Given the description of an element on the screen output the (x, y) to click on. 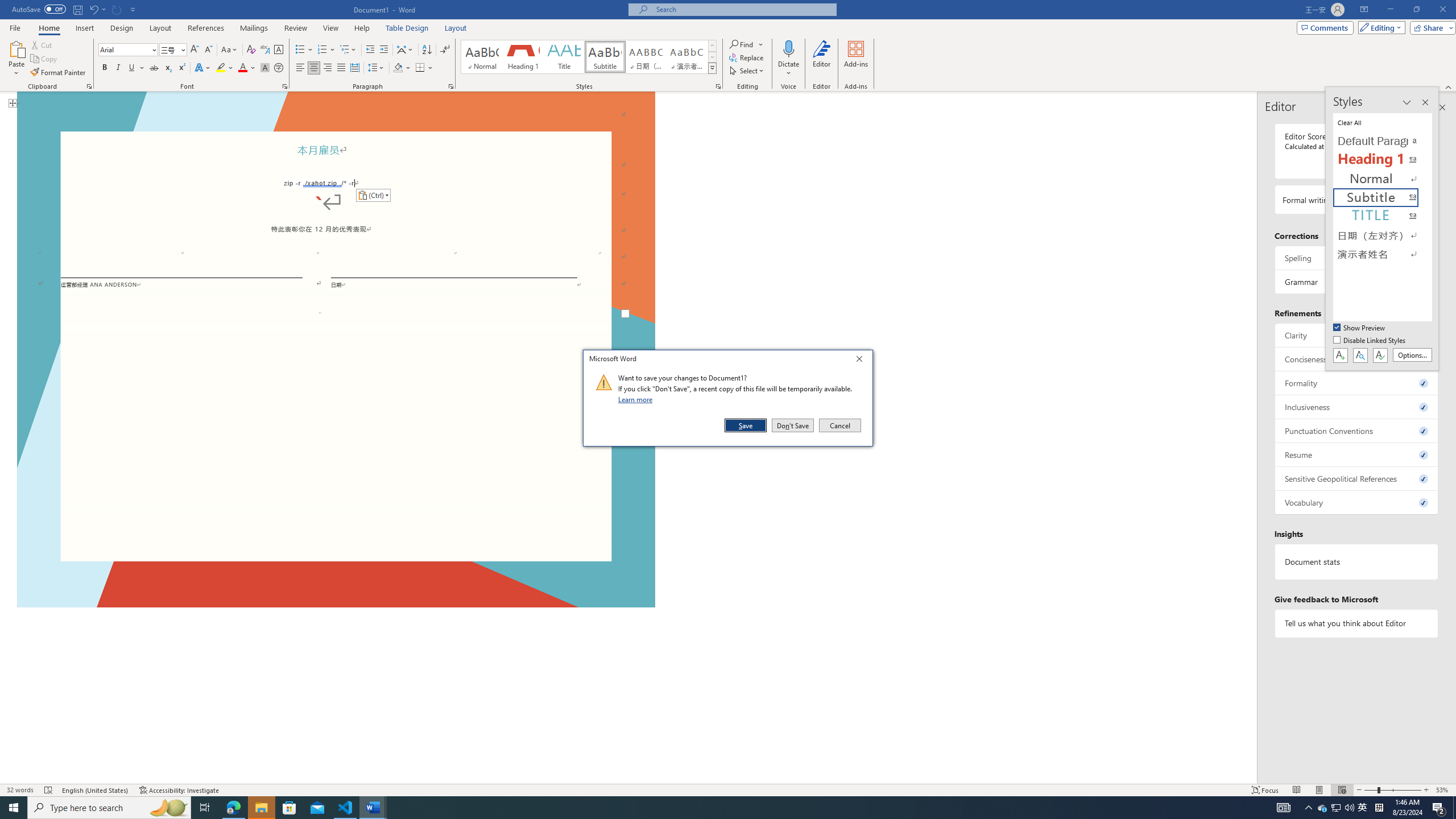
Learn more (636, 399)
